Given the description of an element on the screen output the (x, y) to click on. 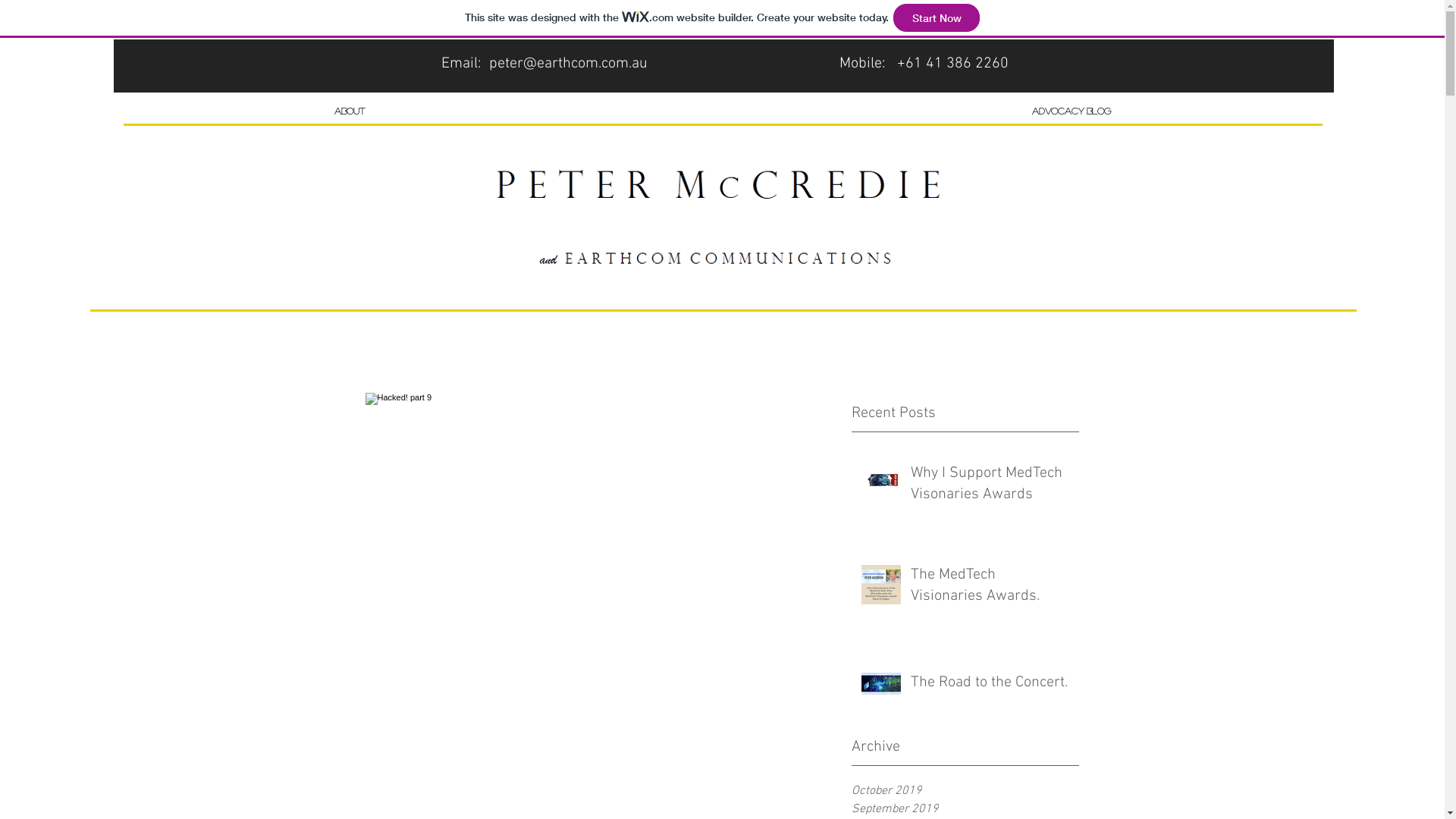
Advocacy Blog Element type: text (1071, 110)
TWIPLA (Visitor Analytics) Element type: hover (1234, 223)
About Element type: text (349, 110)
Why I Support MedTech Visonaries Awards Element type: text (989, 486)
The Road to the Concert. Element type: text (989, 685)
The MedTech Visionaries Awards. Element type: text (989, 588)
peter@earthcom.com.au Element type: text (567, 63)
October 2019 Element type: text (964, 790)
September 2019 Element type: text (964, 809)
